Given the description of an element on the screen output the (x, y) to click on. 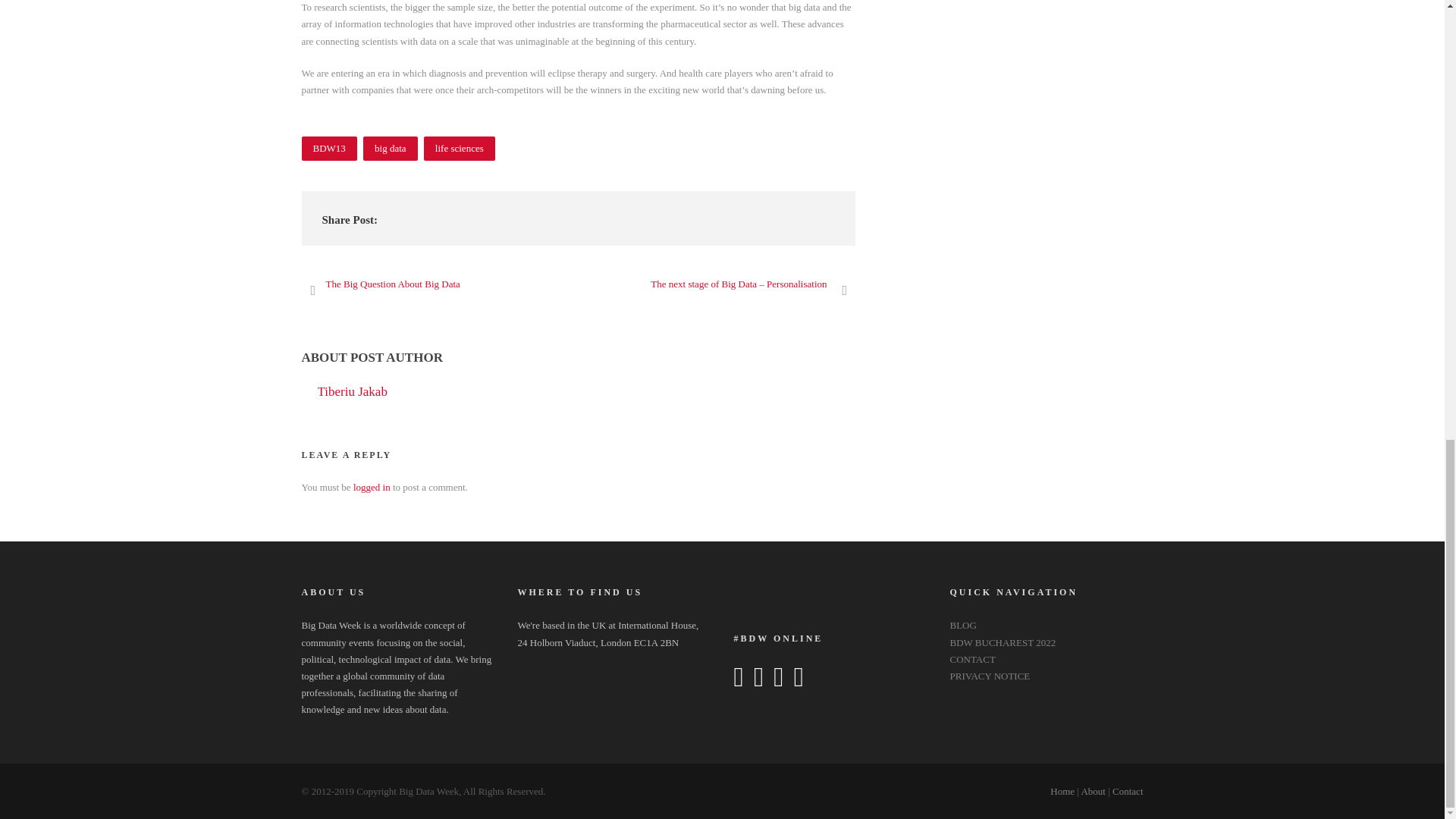
big data (389, 148)
Posts by Tiberiu Jakab (352, 391)
BDW13 (328, 148)
The Big Question About Big Data (380, 283)
life sciences (459, 148)
